Given the description of an element on the screen output the (x, y) to click on. 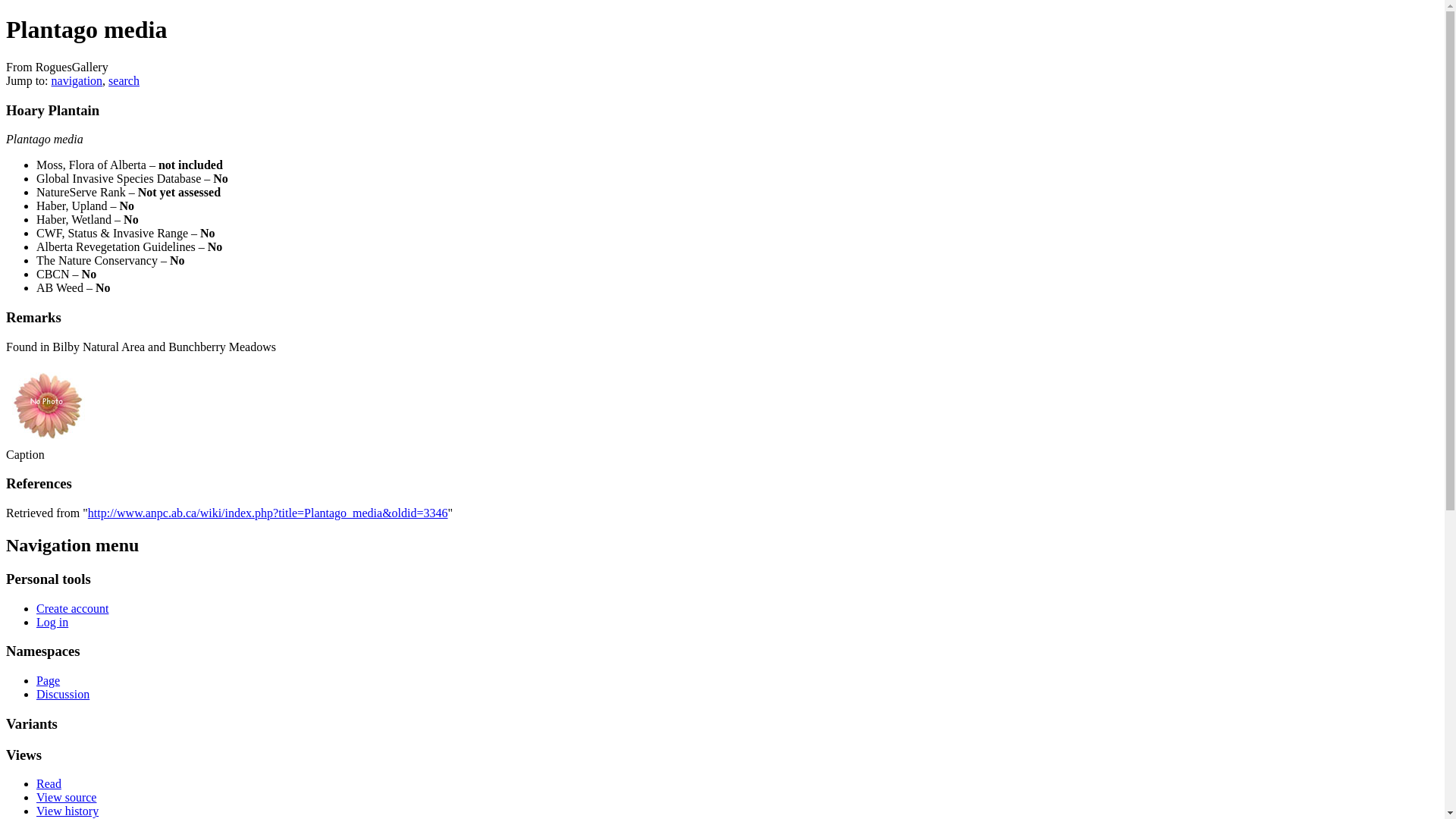
Create account Element type: text (72, 608)
search Element type: text (123, 80)
Page Element type: text (47, 680)
Read Element type: text (48, 783)
View history Element type: text (67, 810)
Discussion Element type: text (62, 693)
Log in Element type: text (52, 621)
navigation Element type: text (77, 80)
View source Element type: text (66, 796)
